Given the description of an element on the screen output the (x, y) to click on. 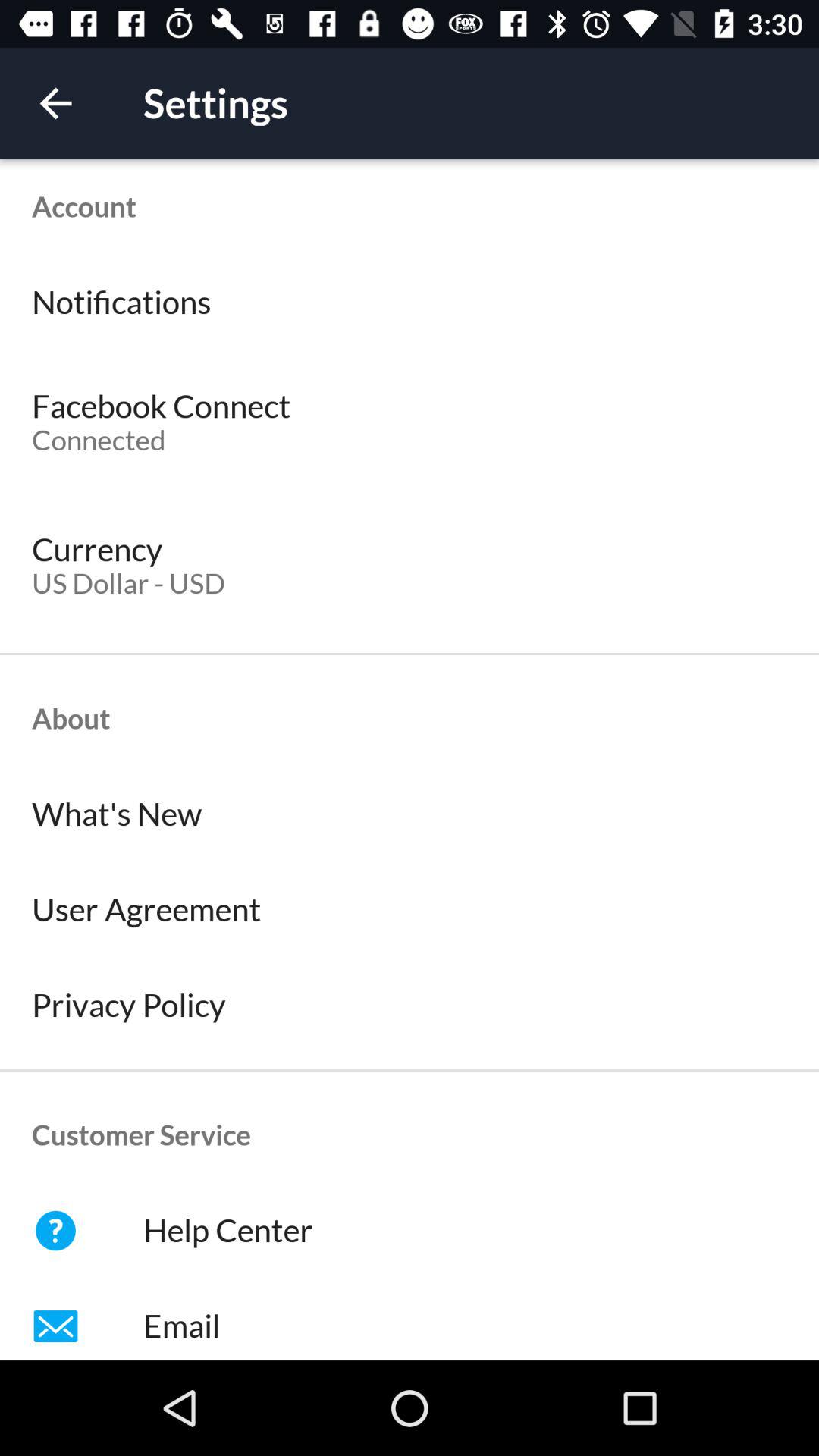
press item below the what's new item (409, 909)
